Given the description of an element on the screen output the (x, y) to click on. 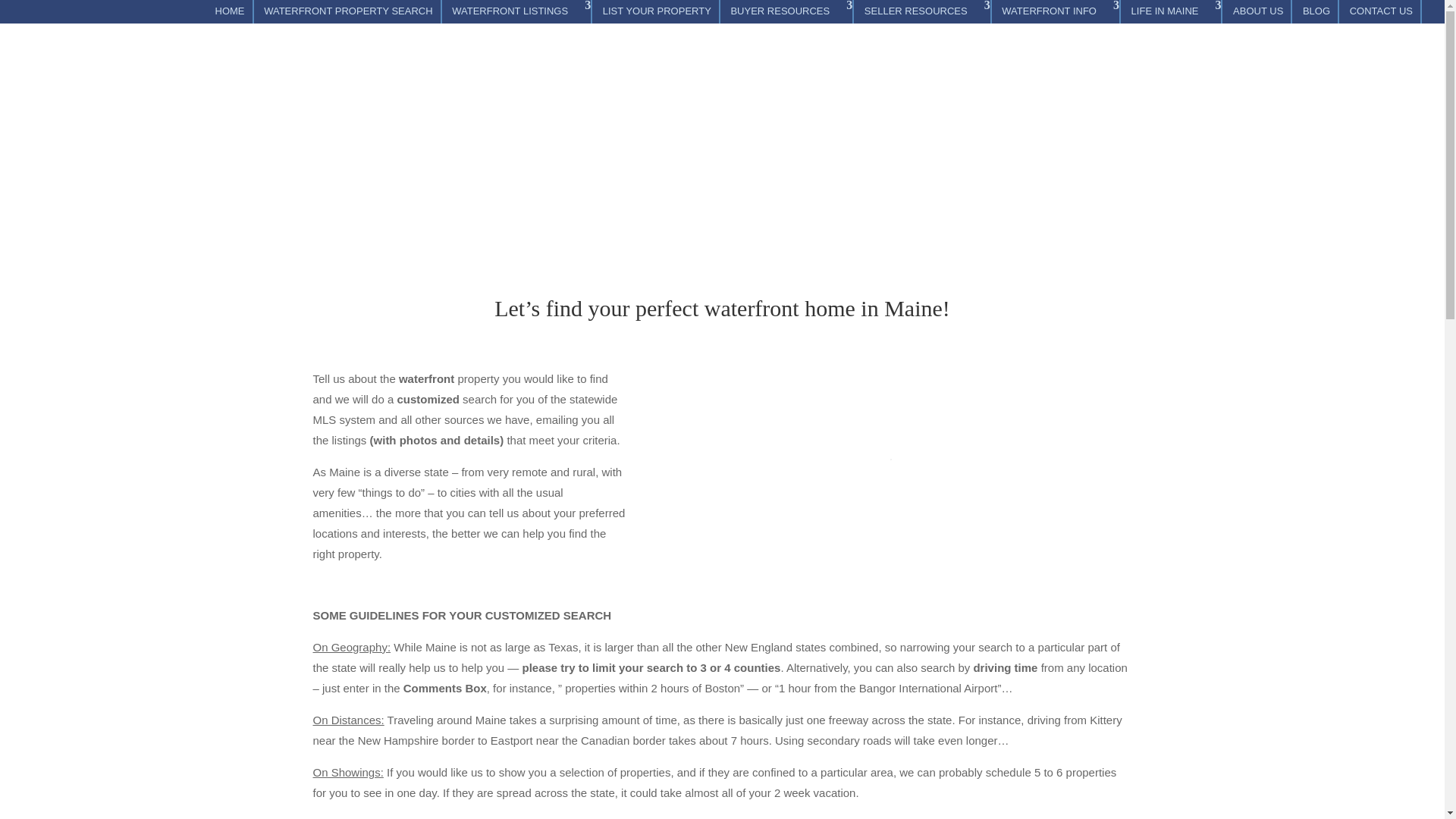
BLOG (1316, 14)
BUYER RESOURCES (787, 14)
SELLER RESOURCES (923, 14)
ABOUT US (1257, 14)
WATERFRONT INFO (1056, 14)
WATERFRONT LISTINGS (517, 14)
HOME (229, 14)
WATERFRONT PROPERTY SEARCH (347, 14)
CONTACT US (1380, 14)
LIFE IN MAINE (1172, 14)
LIST YOUR PROPERTY (656, 14)
